Given the description of an element on the screen output the (x, y) to click on. 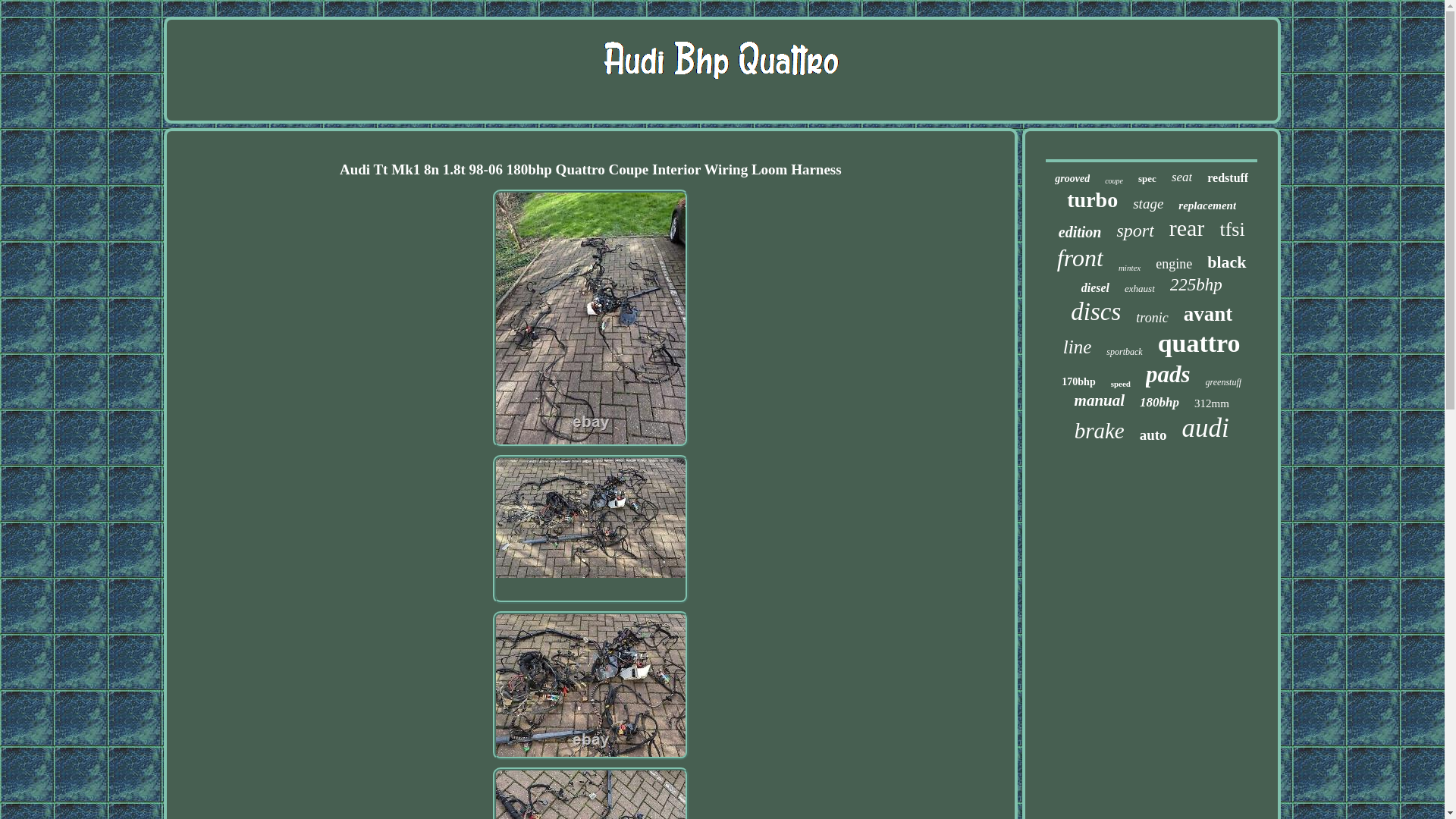
avant (1208, 313)
grooved (1071, 178)
speed (1120, 383)
mintex (1129, 266)
seat (1182, 177)
sport (1134, 230)
sportback (1123, 351)
diesel (1095, 287)
stage (1147, 203)
replacement (1206, 205)
170bhp (1077, 381)
tfsi (1232, 229)
coupe (1113, 180)
line (1077, 346)
